Given the description of an element on the screen output the (x, y) to click on. 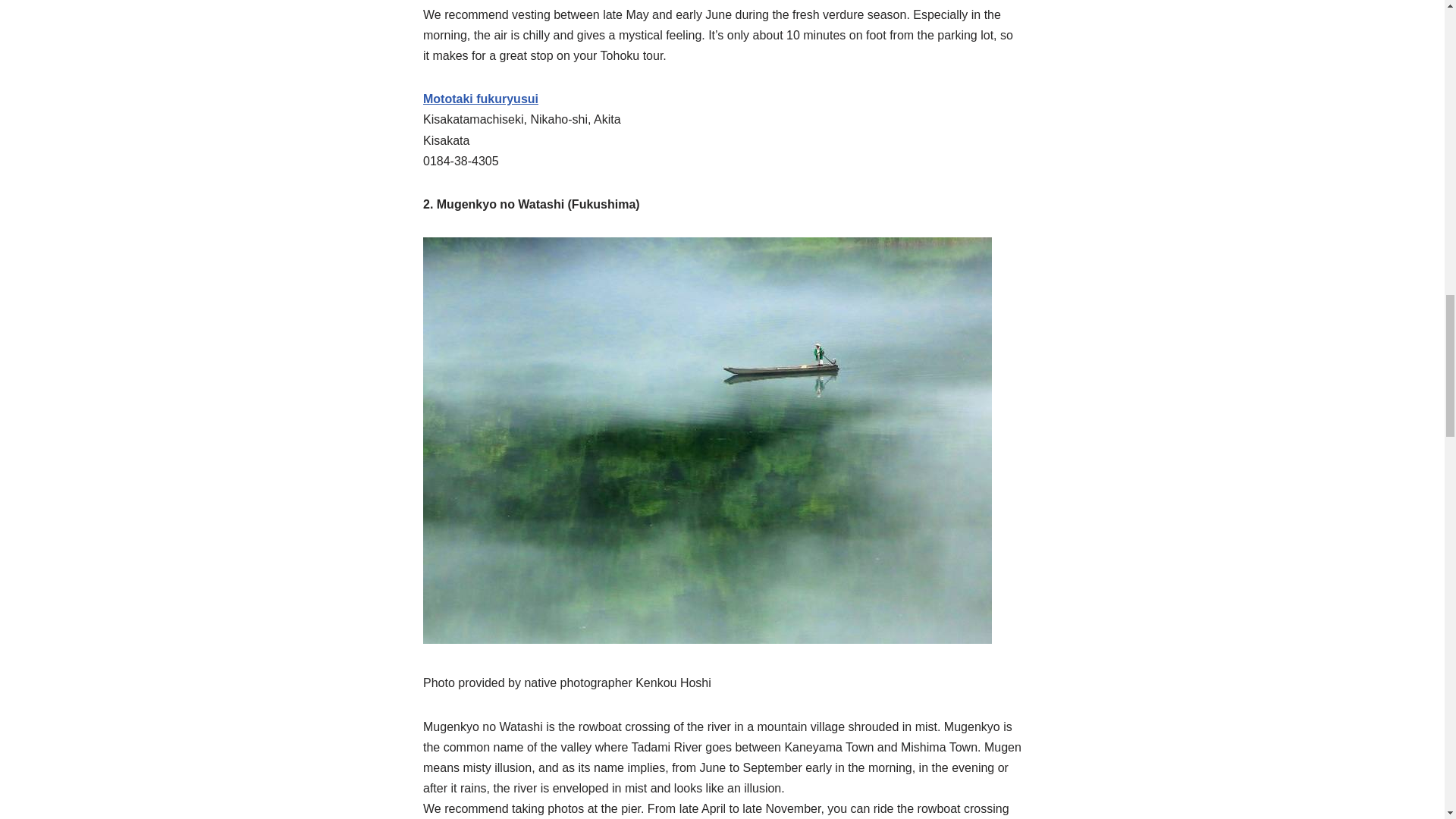
Mototaki fukuryusui (480, 98)
